Given the description of an element on the screen output the (x, y) to click on. 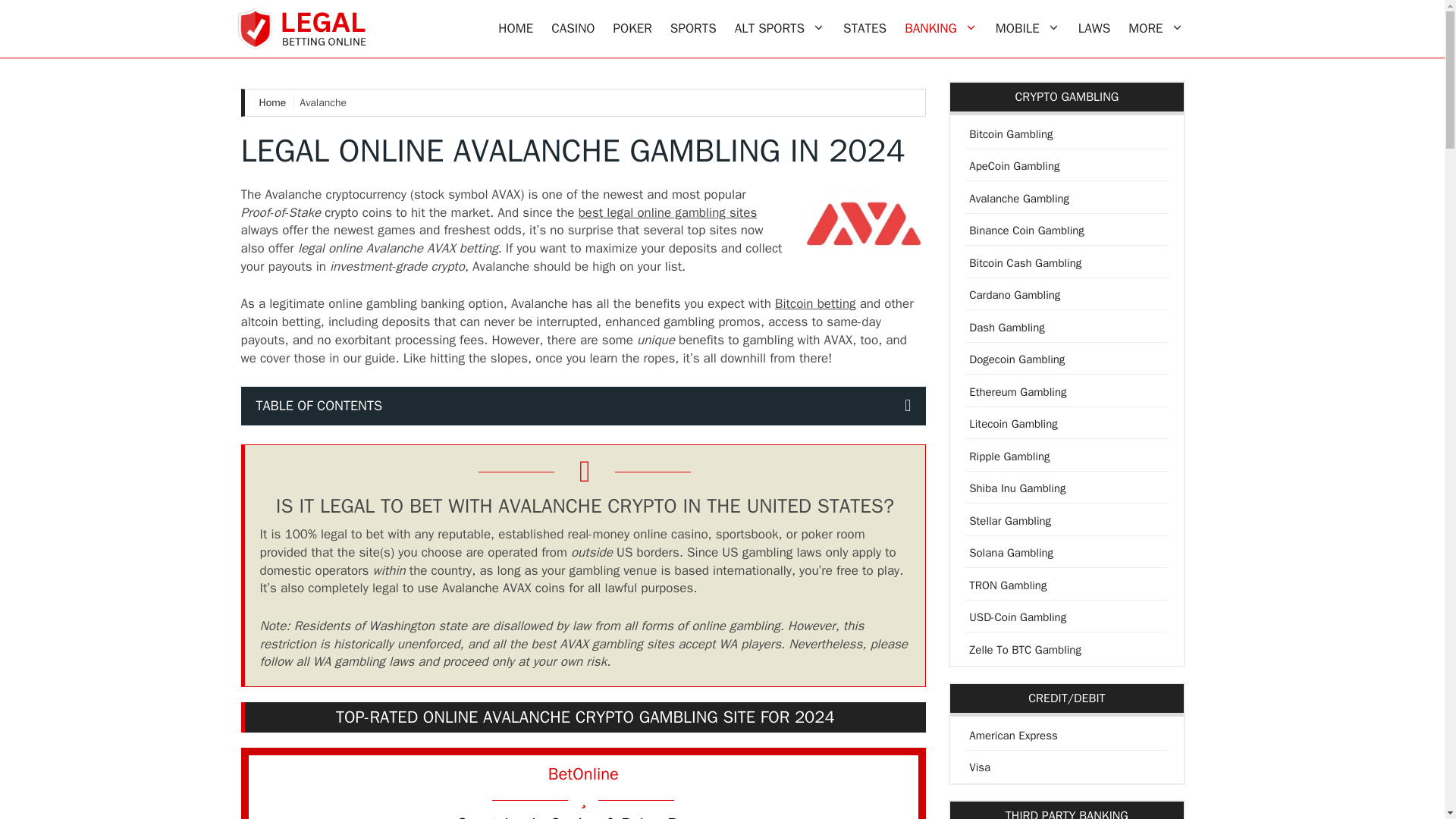
Go to Home (276, 102)
POKER (632, 28)
ALT SPORTS (779, 28)
BANKING (941, 28)
CASINO (572, 28)
SPORTS (693, 28)
HOME (515, 28)
STATES (864, 28)
